Given the description of an element on the screen output the (x, y) to click on. 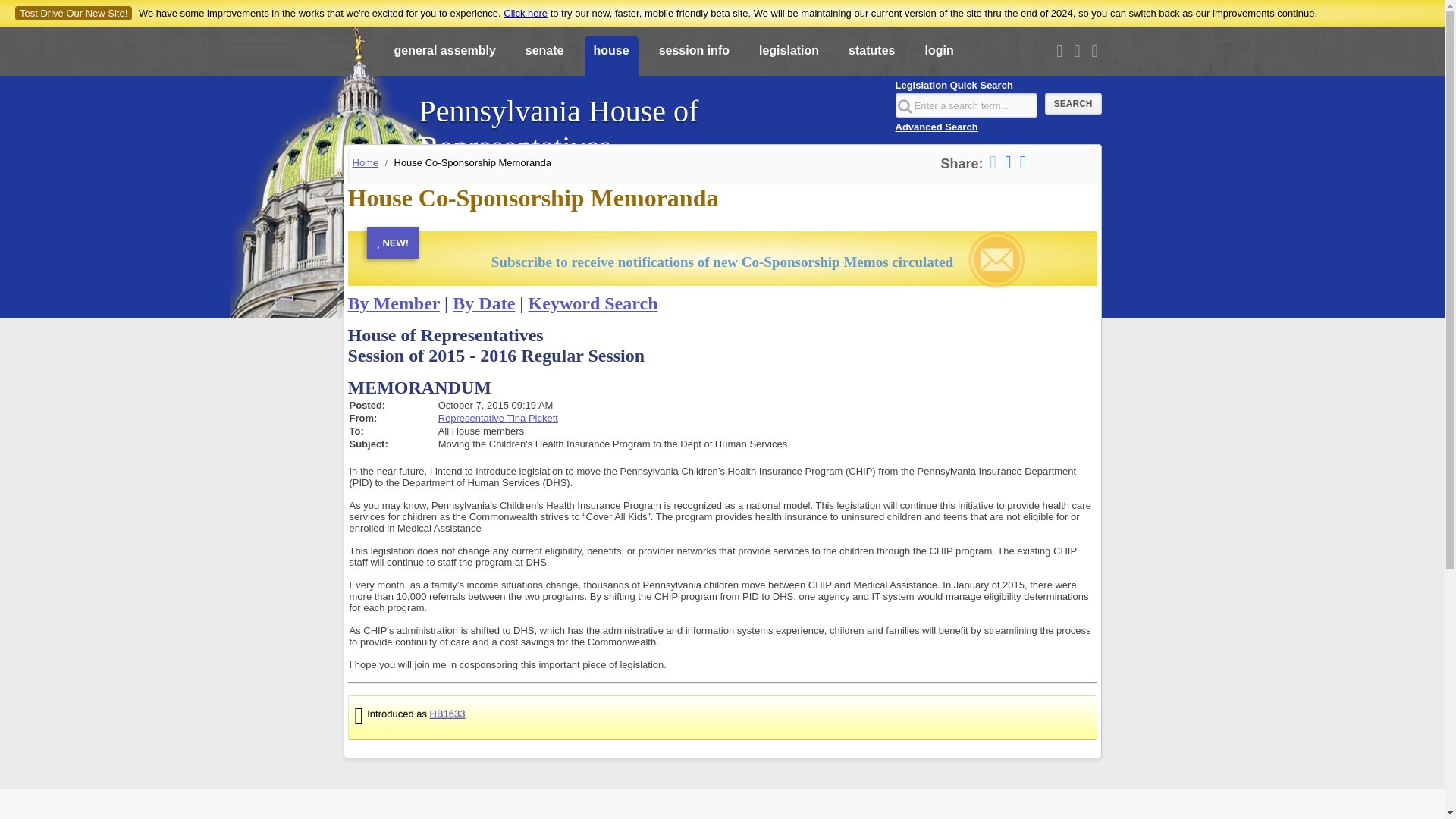
senate (544, 57)
statutes (872, 57)
Click here (525, 12)
house (610, 57)
Advanced Search (935, 126)
Search (1073, 103)
Search (1073, 103)
login (938, 57)
session info (693, 57)
general assembly (445, 57)
Pennsylvania House of Representatives (647, 120)
legislation (788, 57)
